Given the description of an element on the screen output the (x, y) to click on. 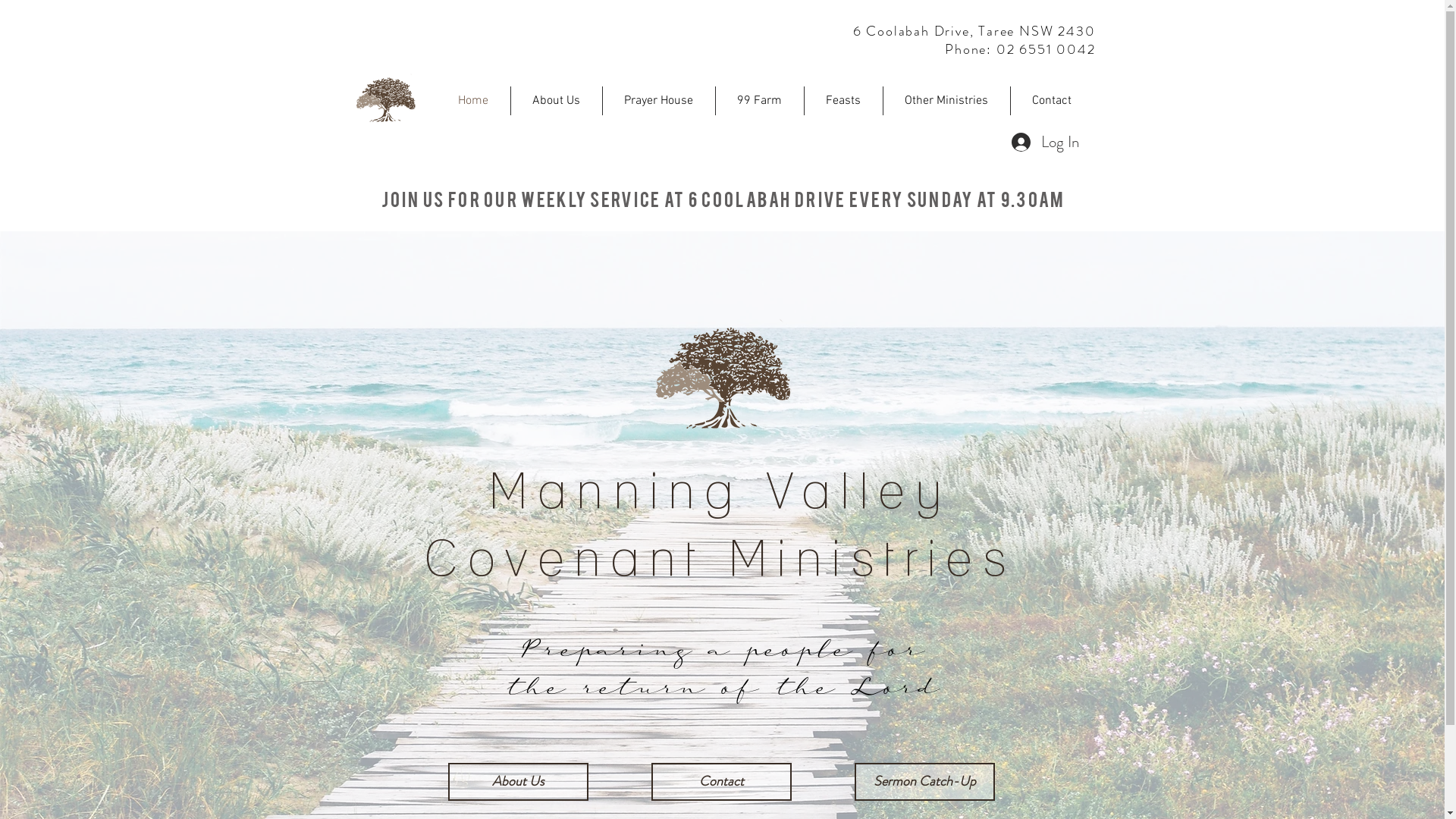
Feasts Element type: text (842, 100)
99 Farm Element type: text (759, 100)
Contact Element type: text (1051, 100)
Sermon Catch-Up Element type: text (923, 781)
About Us Element type: text (556, 100)
Home Element type: text (472, 100)
Other Ministries Element type: text (945, 100)
Prayer House Element type: text (658, 100)
Log In Element type: text (1045, 141)
About Us Element type: text (517, 781)
Contact Element type: text (720, 781)
